Given the description of an element on the screen output the (x, y) to click on. 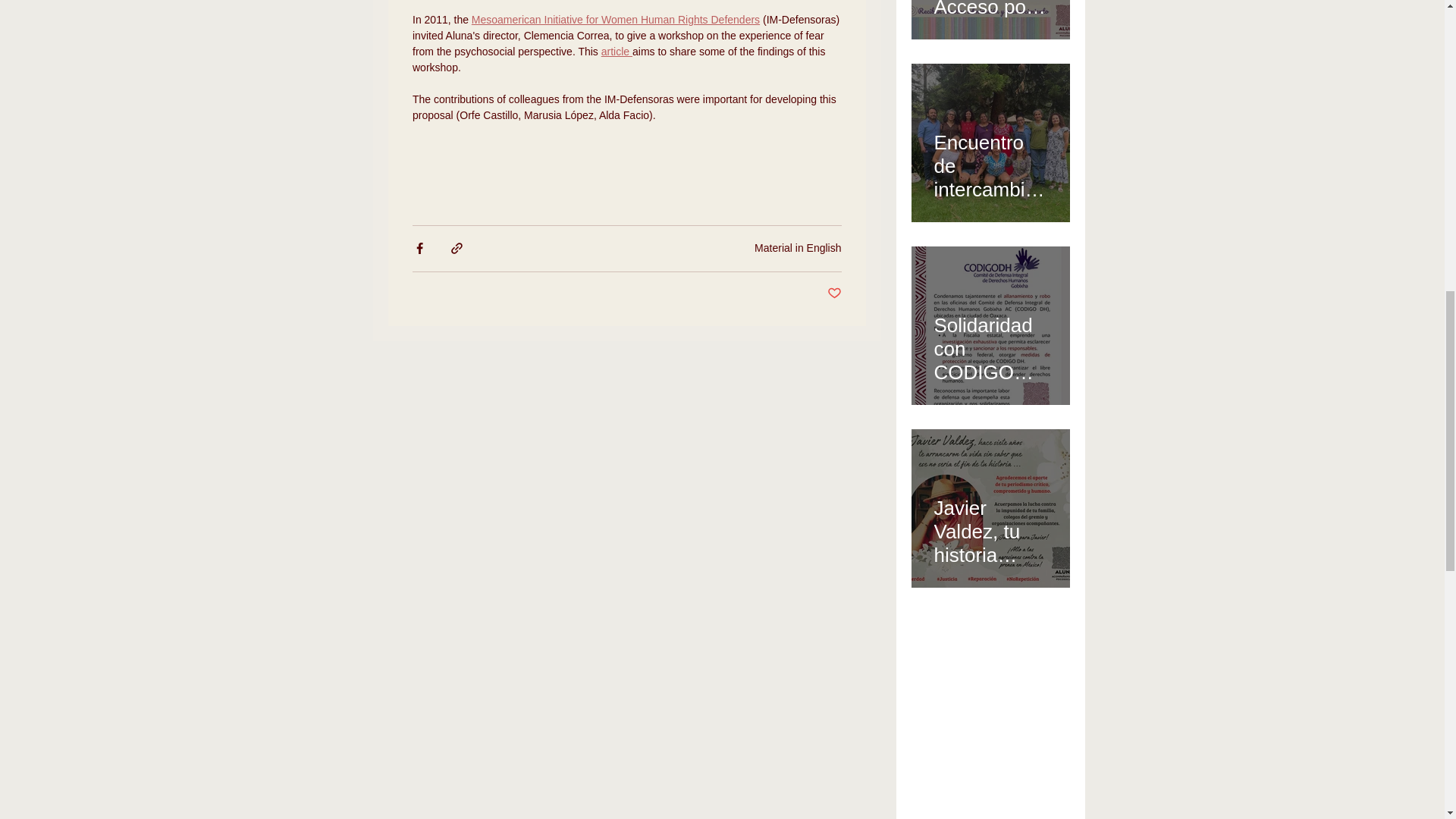
Entrada no marcada como Me Gusta (834, 293)
article  (615, 51)
Material in English (797, 247)
Solidaridad con CODIGO DH (990, 342)
Mesoamerican Initiative for Women Human Rights Defenders (614, 19)
